Given the description of an element on the screen output the (x, y) to click on. 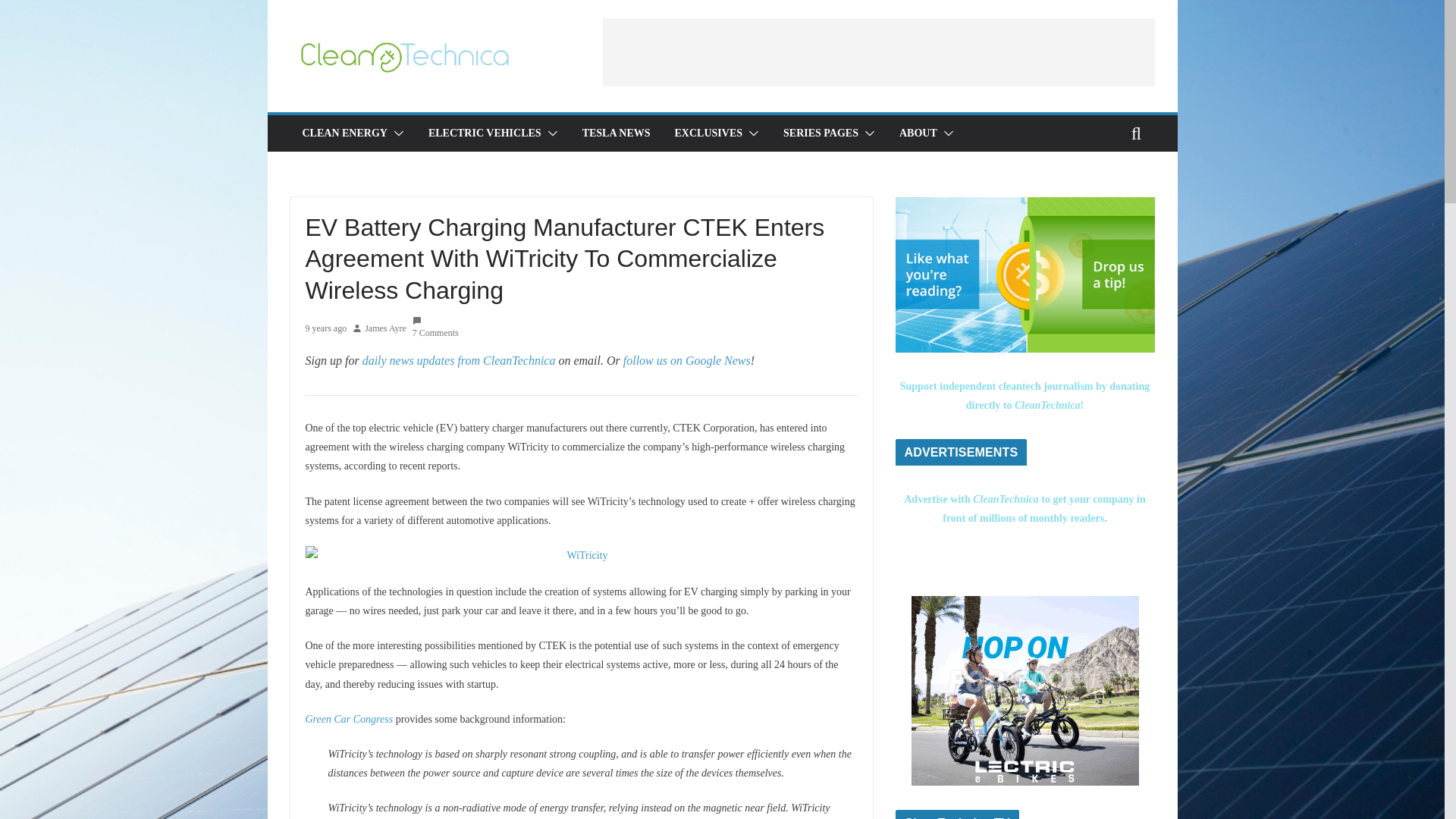
Green Car Congress (348, 718)
James Ayre (385, 329)
SERIES PAGES (821, 133)
TESLA NEWS (616, 133)
EXCLUSIVES (708, 133)
ELECTRIC VEHICLES (484, 133)
CLEAN ENERGY (344, 133)
